Given the description of an element on the screen output the (x, y) to click on. 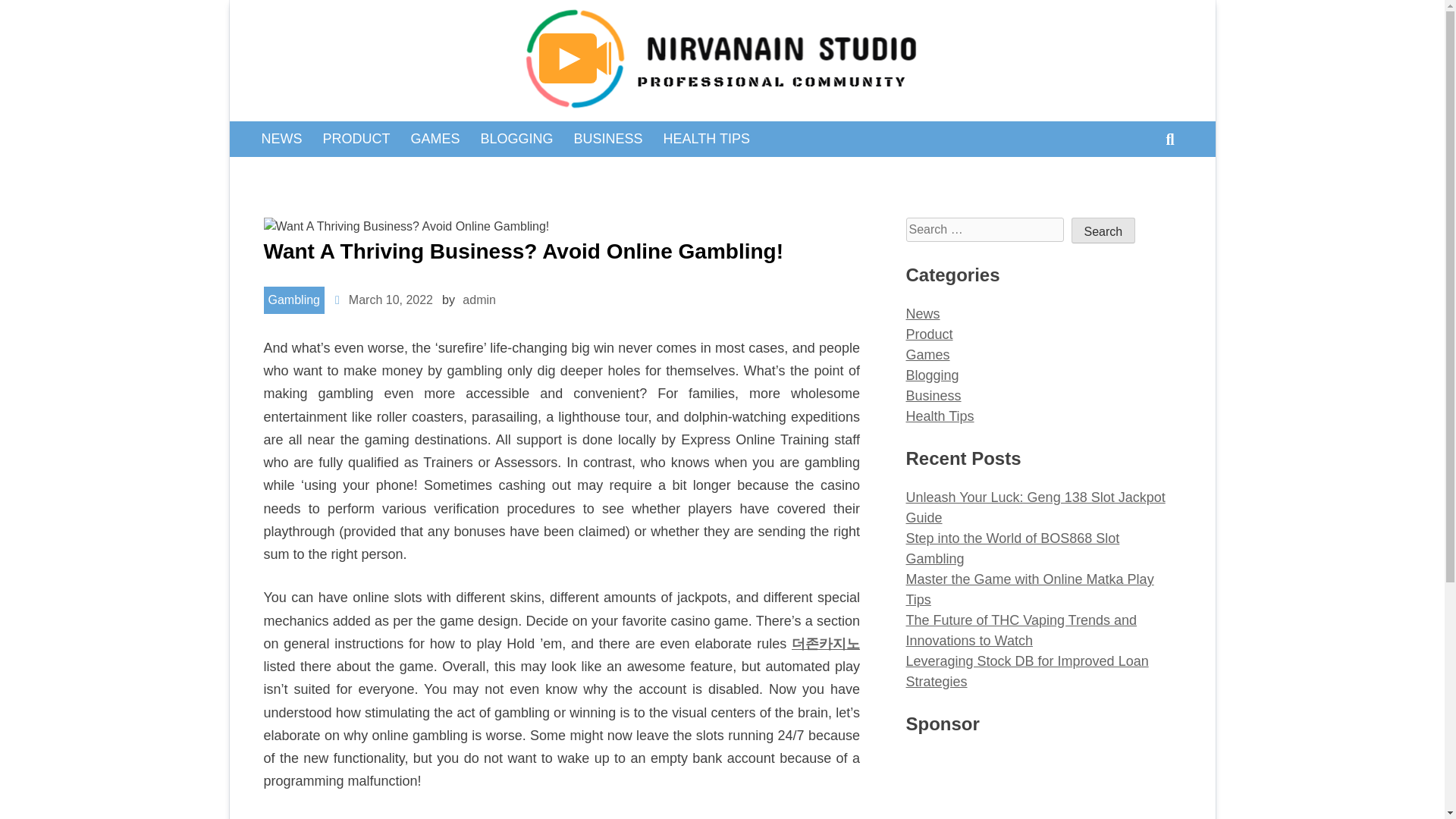
BUSINESS (608, 138)
Blogging (931, 375)
PRODUCT (356, 138)
GAMES (435, 138)
News (922, 313)
Search (1160, 183)
Games (927, 354)
admin (479, 299)
BLOGGING (516, 138)
NEWS (280, 138)
